Given the description of an element on the screen output the (x, y) to click on. 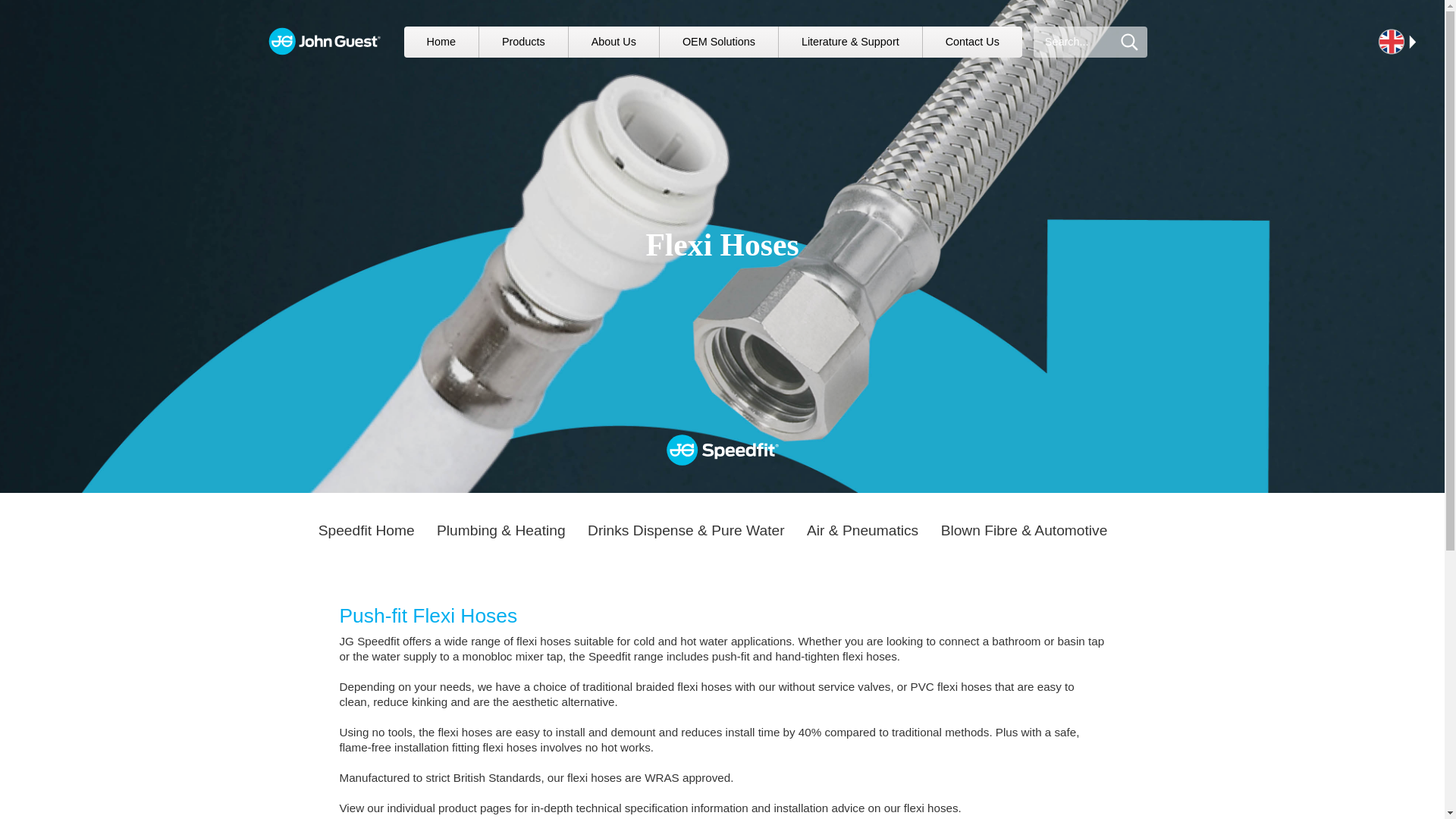
Products (523, 41)
Home (440, 41)
